Given the description of an element on the screen output the (x, y) to click on. 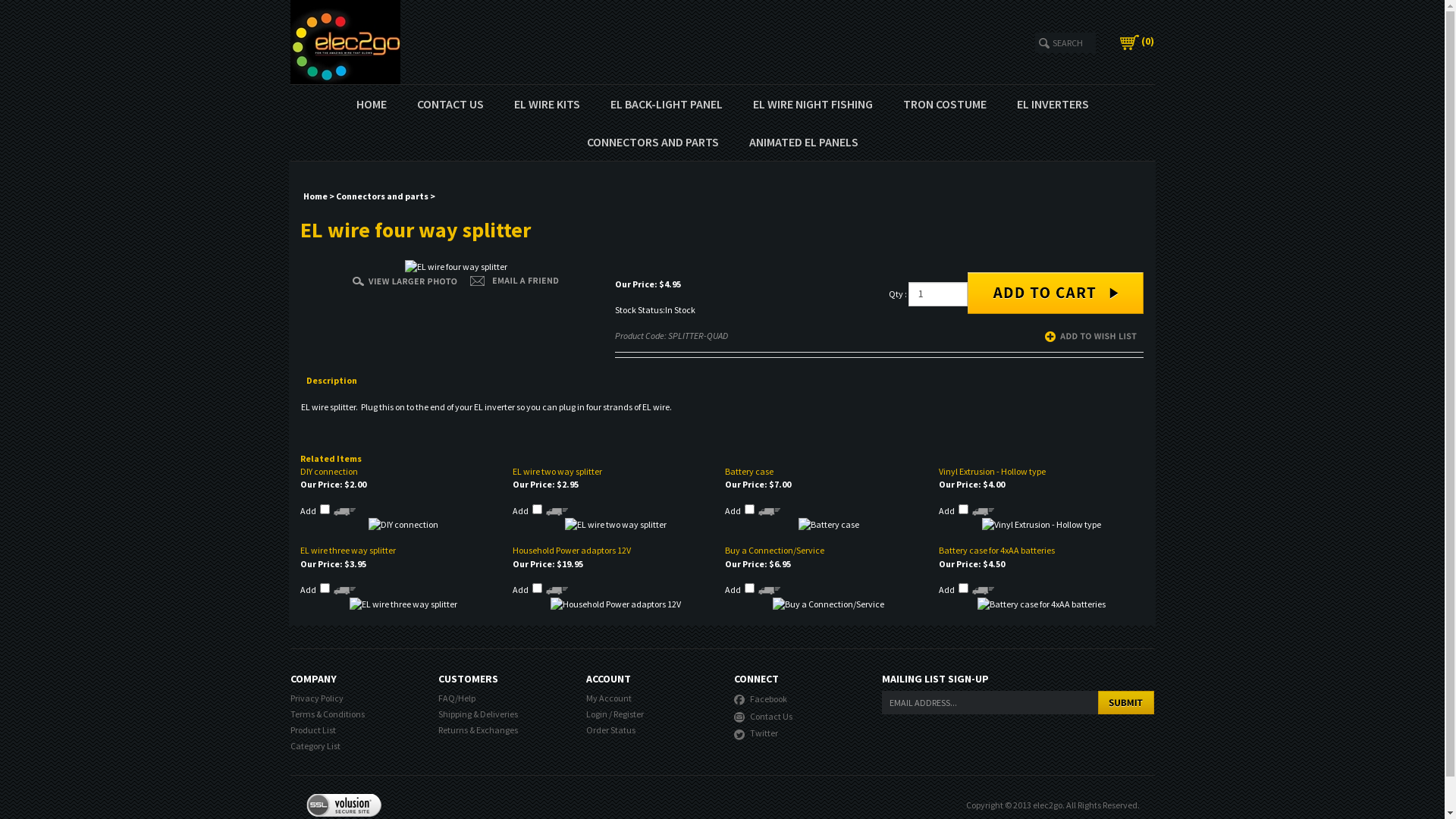
EL BACK-LIGHT PANEL Element type: text (665, 103)
EL wire four way splitter Element type: hover (455, 265)
EL wire two way splitter Element type: hover (615, 523)
Vinyl Extrusion - Hollow type Element type: text (991, 470)
Vinyl Extrusion - Hollow type Element type: hover (1041, 523)
DIY connection Element type: hover (403, 523)
FAQ/Help Element type: text (456, 697)
Buy a Connection/Service Element type: hover (828, 603)
DIY connection Element type: hover (403, 523)
Twitter Element type: text (756, 731)
TRON COSTUME Element type: text (944, 103)
Order Status Element type: text (609, 729)
Battery case Element type: text (748, 470)
Register Element type: text (627, 713)
Battery case for 4xAA batteries Element type: hover (1041, 603)
Shipping & Deliveries Element type: text (477, 713)
Household Power adaptors 12V Element type: text (571, 549)
CONTACT US Element type: text (449, 103)
EL wire two way splitter Element type: hover (615, 523)
Battery case for 4xAA batteries Element type: hover (1041, 602)
Facebook Element type: text (760, 697)
ANIMATED EL PANELS Element type: text (803, 141)
Product List Element type: text (312, 729)
Returns & Exchanges Element type: text (477, 729)
DIY connection Element type: text (328, 470)
Home Element type: text (315, 195)
CONNECTORS AND PARTS Element type: text (652, 141)
EL WIRE NIGHT FISHING Element type: text (812, 103)
Battery case Element type: hover (828, 523)
Household Power adaptors 12V Element type: hover (615, 602)
Privacy Policy Element type: text (315, 697)
Terms & Conditions Element type: text (326, 713)
HOME Element type: text (371, 103)
EL wire four way splitter Element type: hover (455, 266)
EL wire two way splitter Element type: text (557, 470)
(0) Element type: text (1137, 40)
My Account Element type: text (607, 697)
Battery case Element type: hover (828, 523)
Quantity Element type: hover (937, 294)
EL wire four way splitter Element type: hover (405, 279)
www.elec2go.com.au Element type: text (577, 42)
EL wire three way splitter Element type: text (347, 549)
Vinyl Extrusion - Hollow type Element type: hover (1041, 523)
Category List Element type: text (314, 745)
EL WIRE KITS Element type: text (546, 103)
Buy a Connection/Service Element type: text (774, 549)
EL wire three way splitter Element type: hover (403, 602)
Submit Element type: text (1126, 702)
Connectors and parts Element type: text (381, 195)
EL wire three way splitter Element type: hover (403, 603)
Login Element type: text (595, 713)
Buy a Connection/Service Element type: hover (828, 602)
Contact Us Element type: text (763, 714)
Battery case for 4xAA batteries Element type: text (996, 549)
Household Power adaptors 12V Element type: hover (615, 603)
EL INVERTERS Element type: text (1052, 103)
Description Element type: text (338, 380)
